Given the description of an element on the screen output the (x, y) to click on. 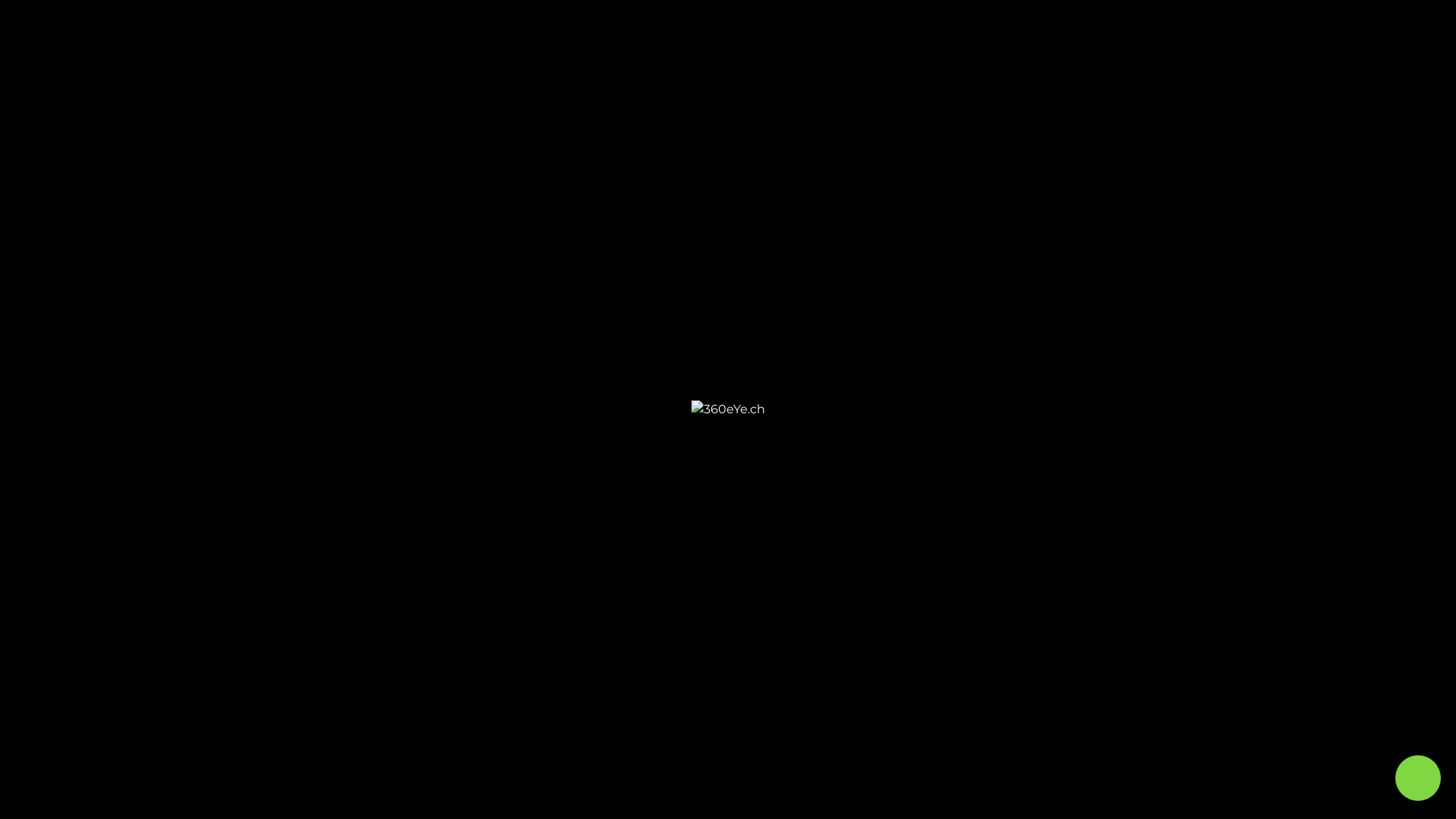
German Element type: hover (1387, 28)
youtube Element type: text (824, 502)
360eYe.ch Element type: text (1092, 656)
+41/76 343 23 32 Element type: text (970, 613)
AGB | Impressum | Datenschutz Element type: text (407, 686)
HOME Element type: text (1127, 28)
instagram Element type: text (634, 502)
facebook Element type: text (731, 502)
KONTAKT Element type: text (1342, 28)
Dot3 GmbH Element type: text (1036, 656)
360EYE Element type: text (1177, 28)
info@360eye.ch Element type: text (969, 629)
DIENSTLEISTUNGEN Element type: text (1257, 28)
